Given the description of an element on the screen output the (x, y) to click on. 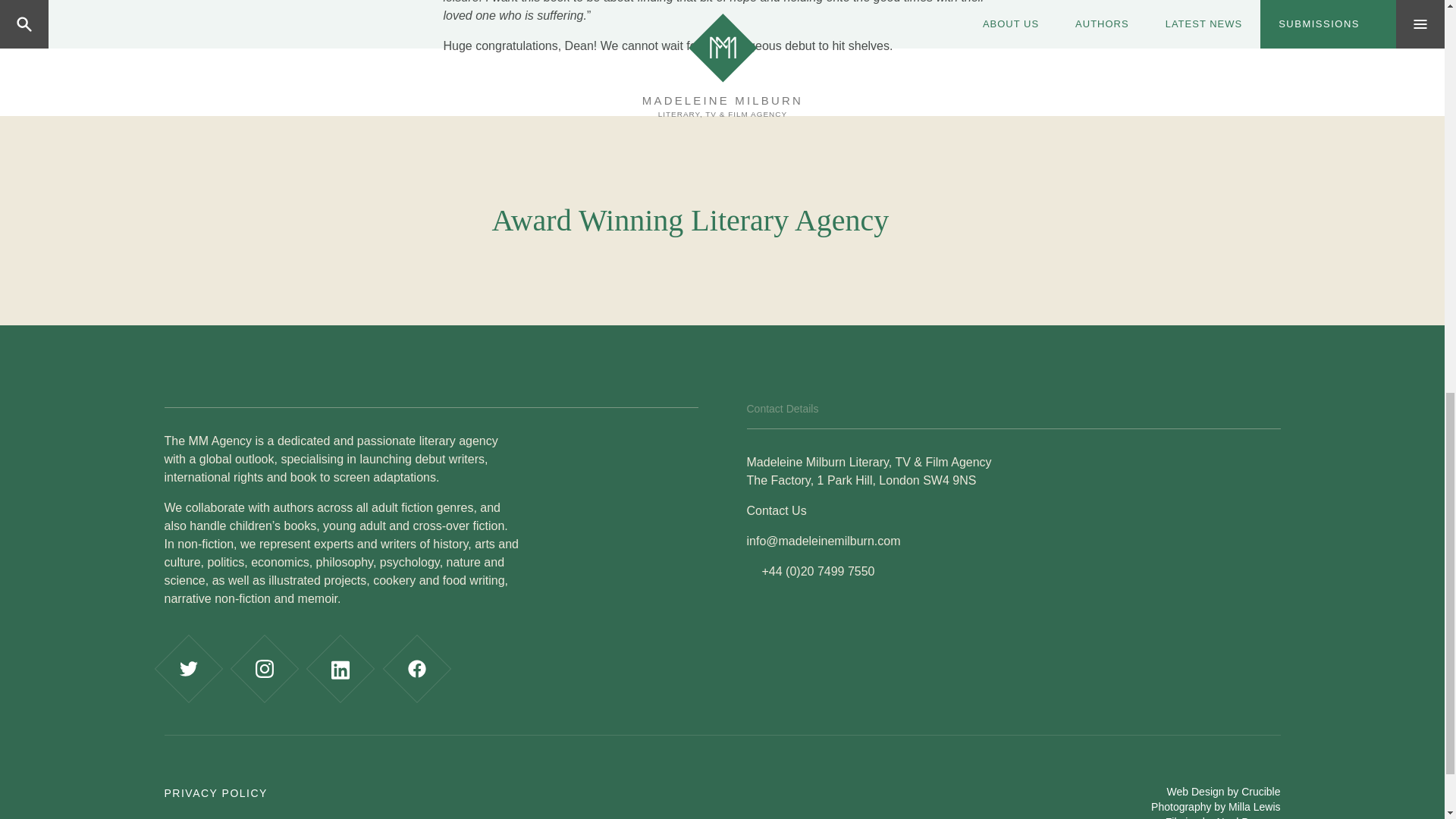
Photography by Milla Lewis (1215, 806)
Filming by Neal Parsons (1223, 817)
PRIVACY POLICY (214, 793)
Contact Us (775, 510)
Web Design by Crucible (1224, 791)
